Given the description of an element on the screen output the (x, y) to click on. 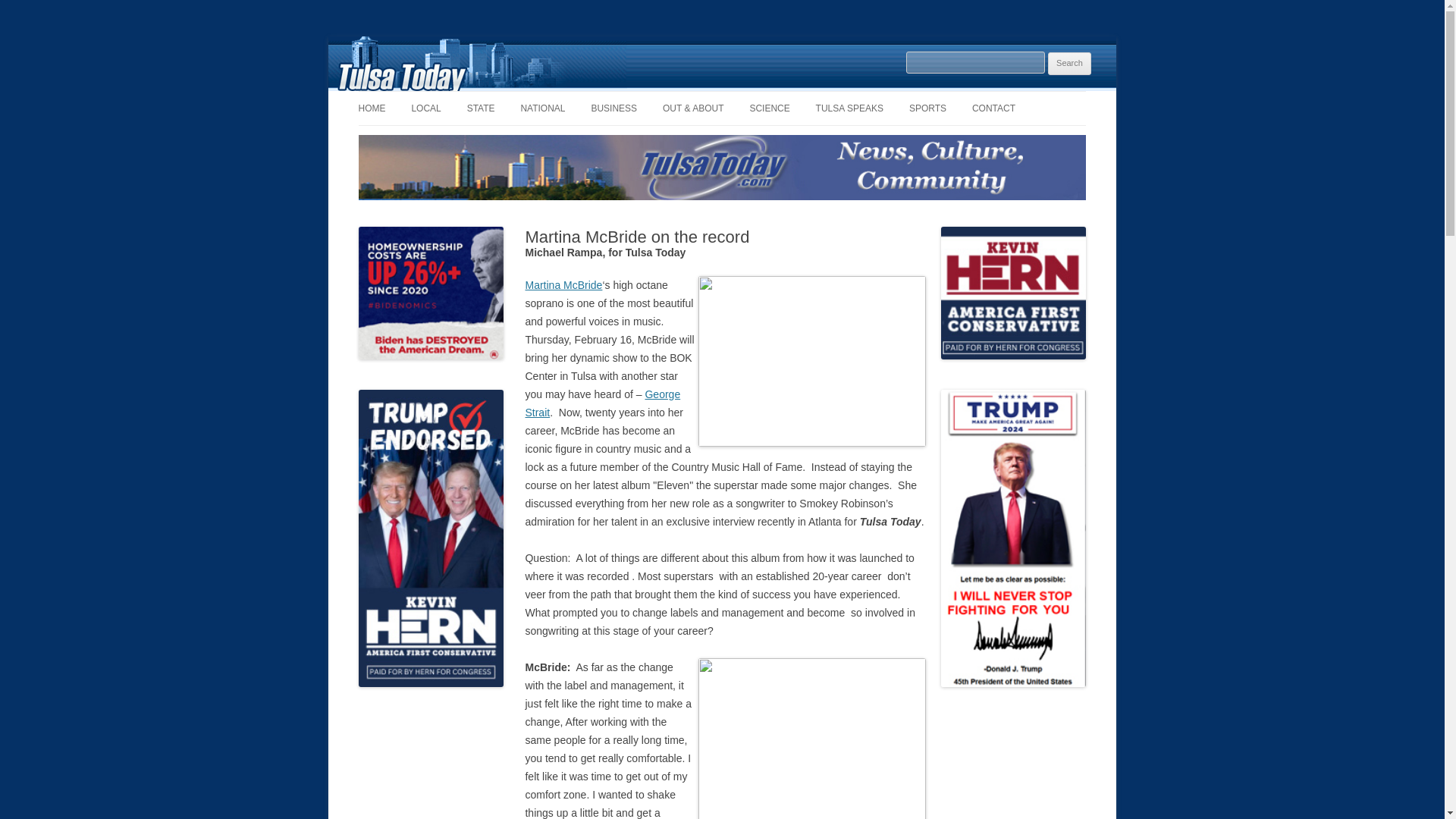
Search (1069, 63)
Martina McBride (563, 285)
Search (1069, 63)
opens new window (601, 403)
George Strait (601, 403)
BUSINESS (614, 108)
SCIENCE (769, 108)
TULSA SPEAKS (849, 108)
Skip to content (757, 95)
SPORTS (927, 108)
CONTACT (993, 108)
NATIONAL (541, 108)
Skip to content (757, 95)
opens new window (563, 285)
